Given the description of an element on the screen output the (x, y) to click on. 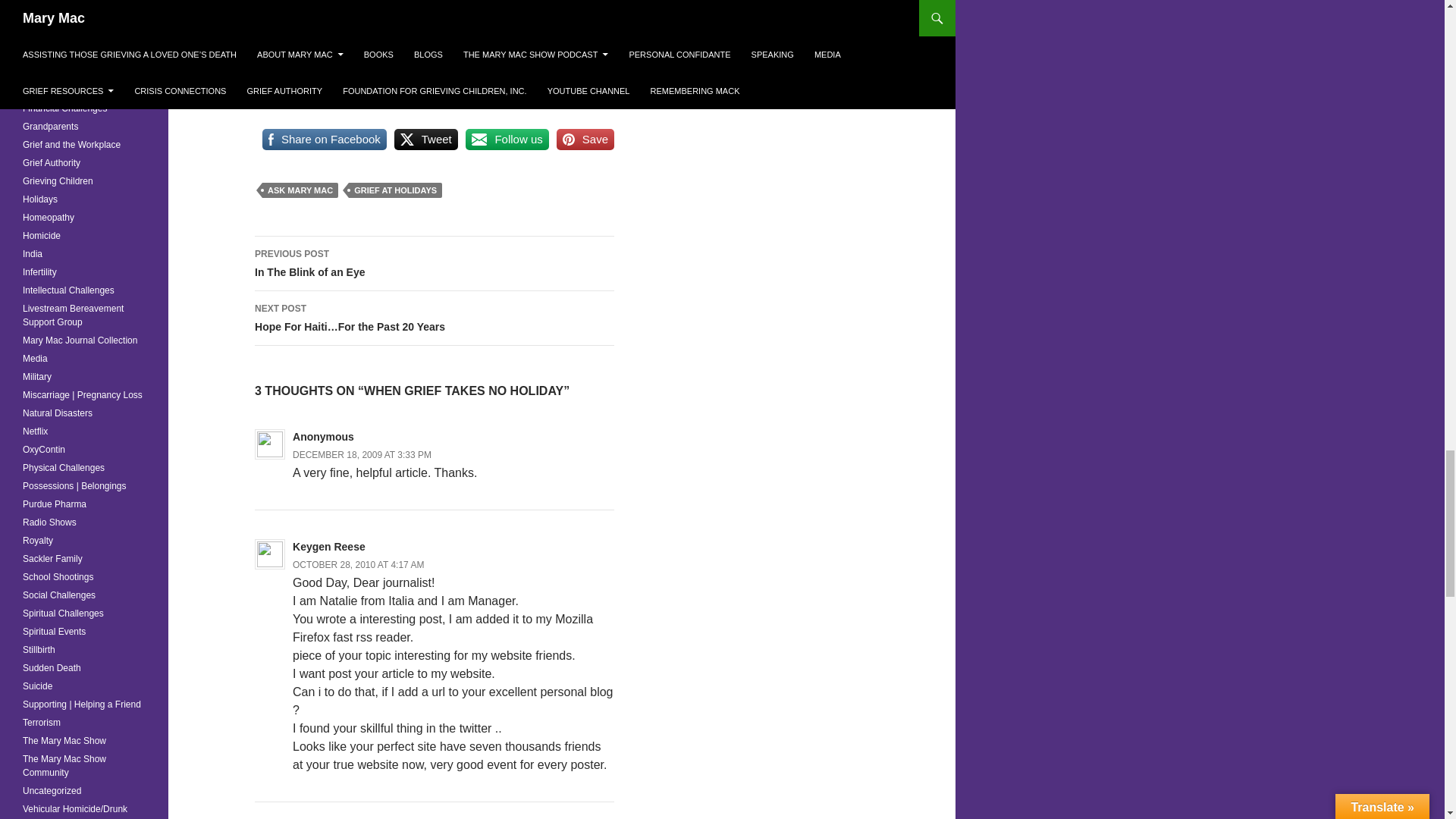
Tweet (426, 139)
Follow us (506, 139)
GRIEF AT HOLIDAYS (434, 263)
DECEMBER 18, 2009 AT 3:33 PM (395, 190)
Save (361, 454)
ASK MARY MAC (585, 139)
OCTOBER 28, 2010 AT 4:17 AM (299, 190)
Share on Facebook (357, 564)
